Given the description of an element on the screen output the (x, y) to click on. 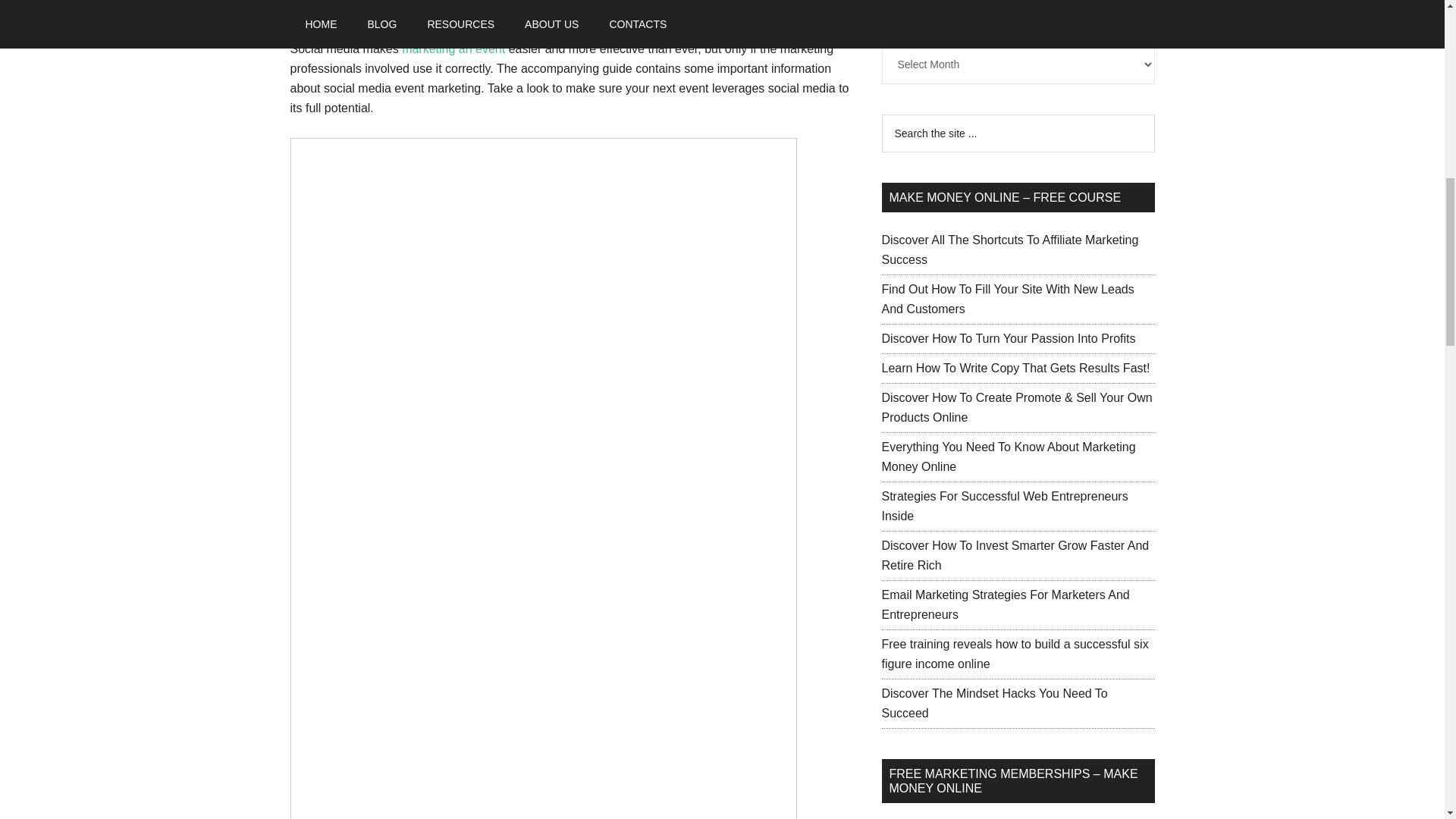
marketing an event (453, 48)
